Given the description of an element on the screen output the (x, y) to click on. 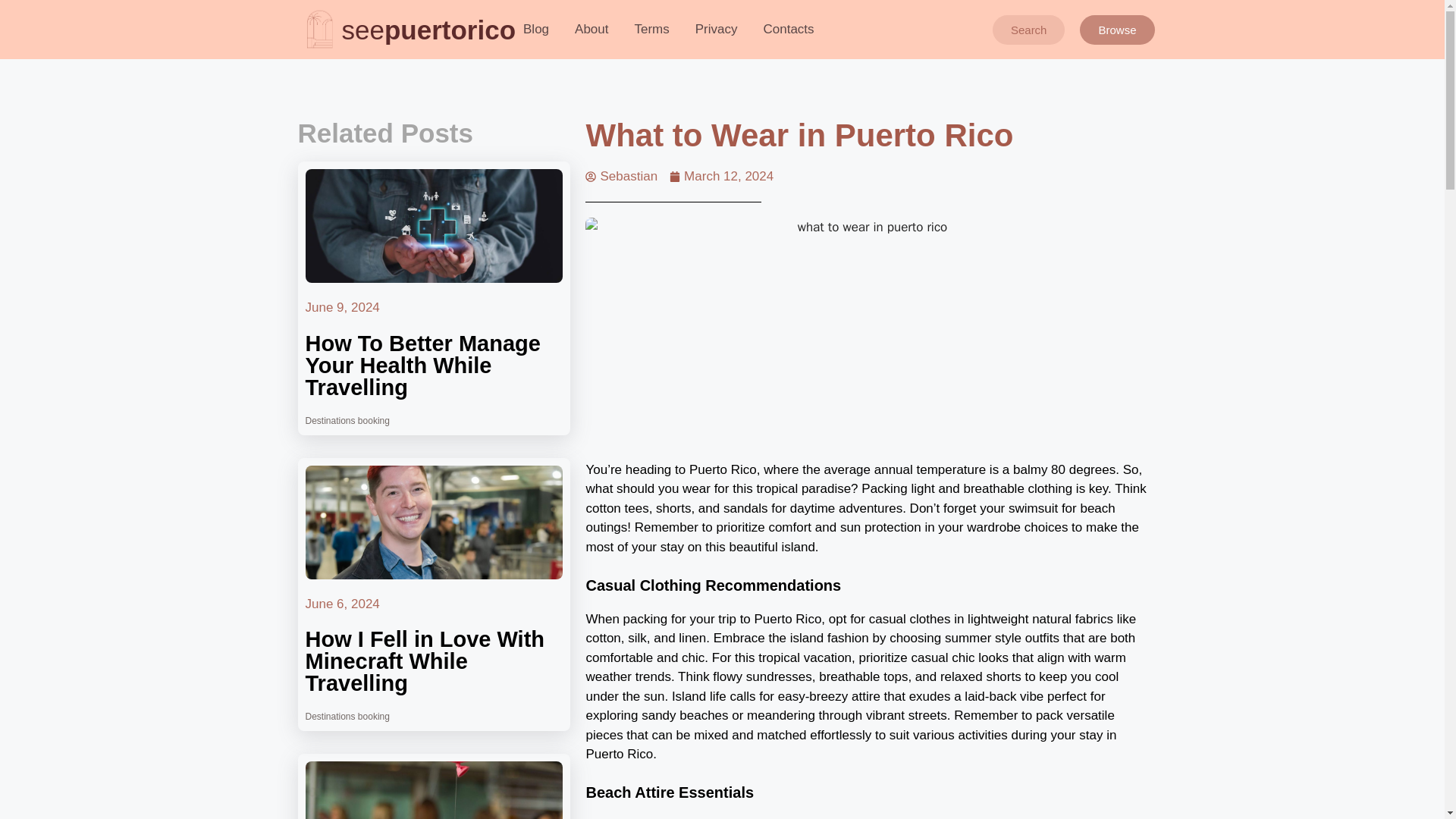
How I Fell in Love With Minecraft While Travelling (424, 661)
Privacy (716, 29)
March 12, 2024 (721, 176)
Contacts (787, 29)
How To Better Manage Your Health While Travelling (422, 364)
Search (1028, 30)
Terms (650, 29)
Destinations booking (346, 420)
Browse (1117, 30)
About (591, 29)
